Given the description of an element on the screen output the (x, y) to click on. 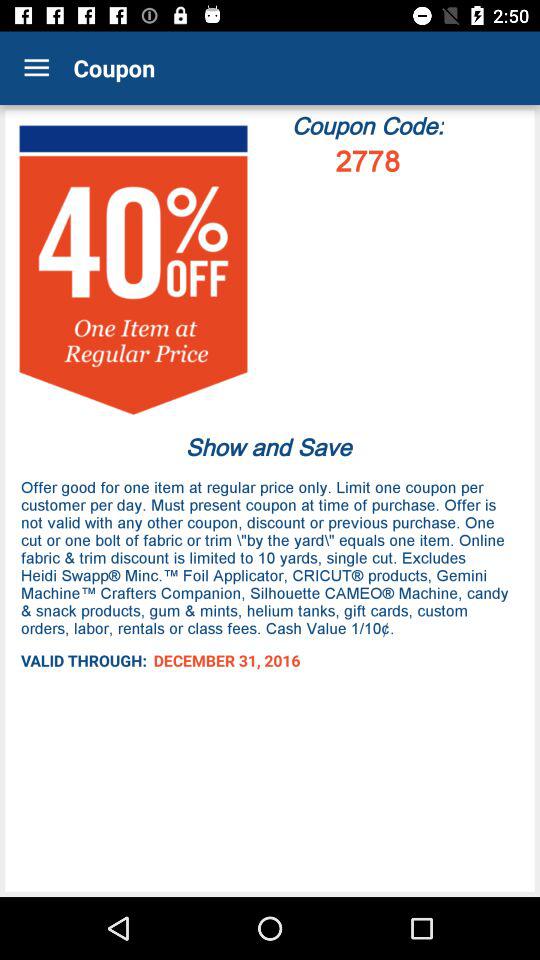
launch item to the left of the coupon item (36, 68)
